Given the description of an element on the screen output the (x, y) to click on. 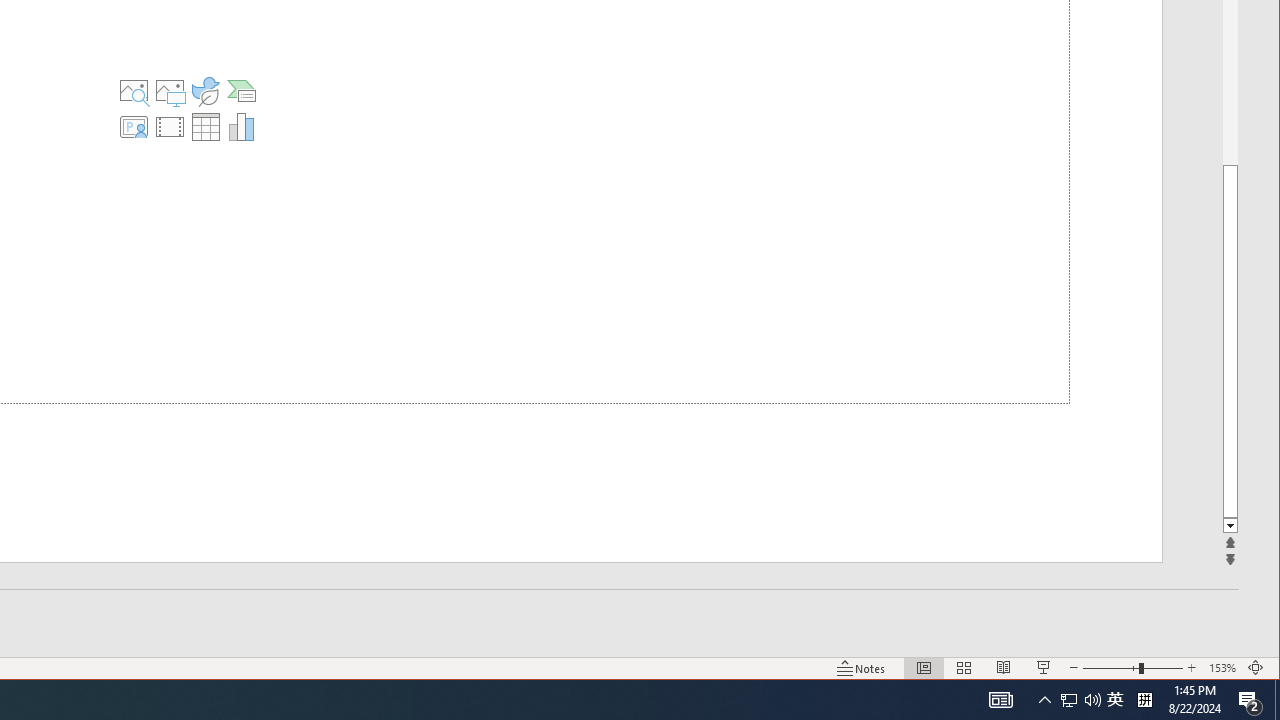
Zoom 153% (1222, 668)
